Given the description of an element on the screen output the (x, y) to click on. 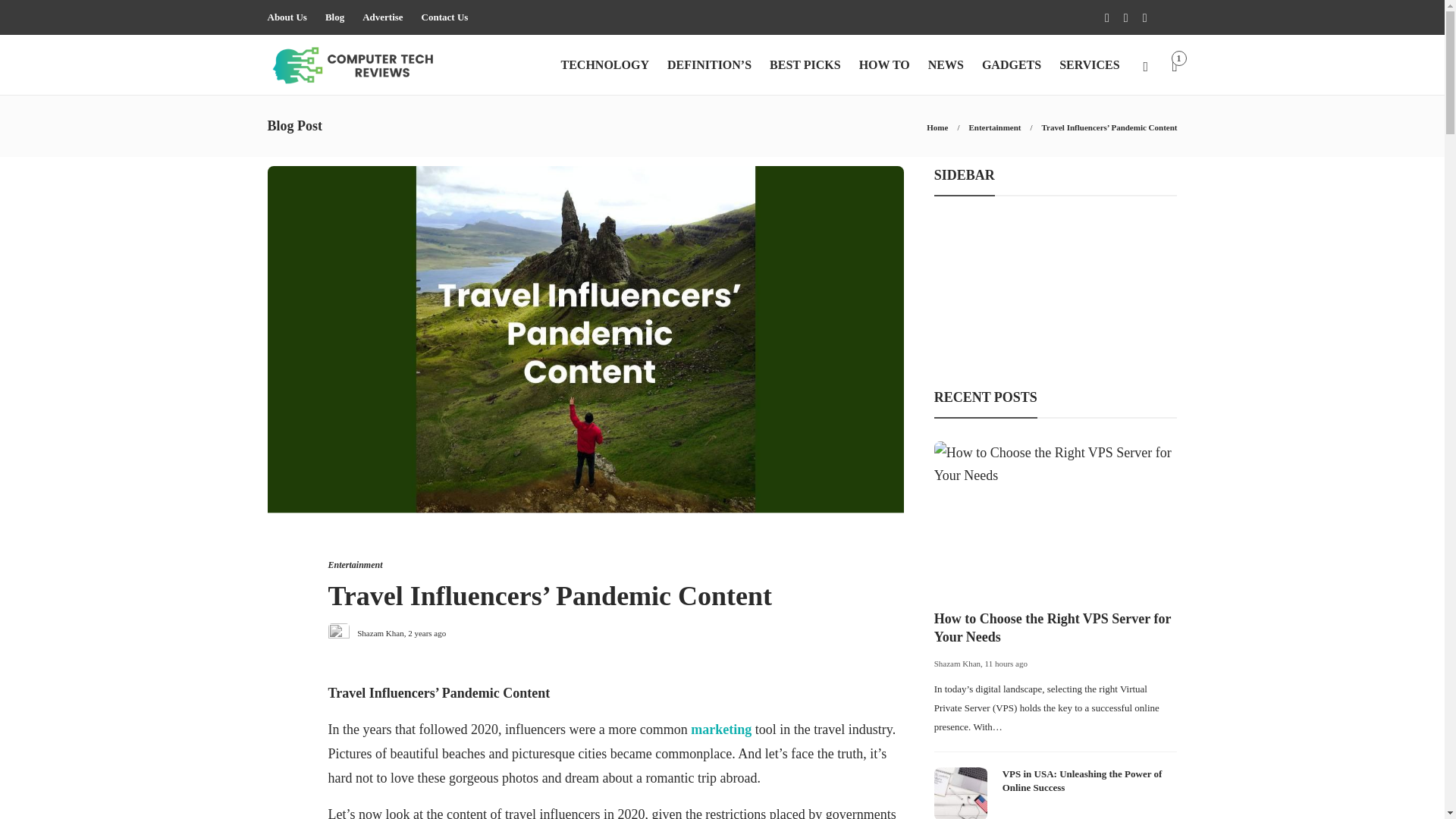
Home (936, 126)
GADGETS (1011, 65)
Shazam Khan (379, 633)
marketing (720, 729)
Advertise (382, 17)
Contact Us (445, 17)
About Us (285, 17)
Home (936, 126)
SERVICES (1089, 65)
BEST PICKS (805, 65)
